Given the description of an element on the screen output the (x, y) to click on. 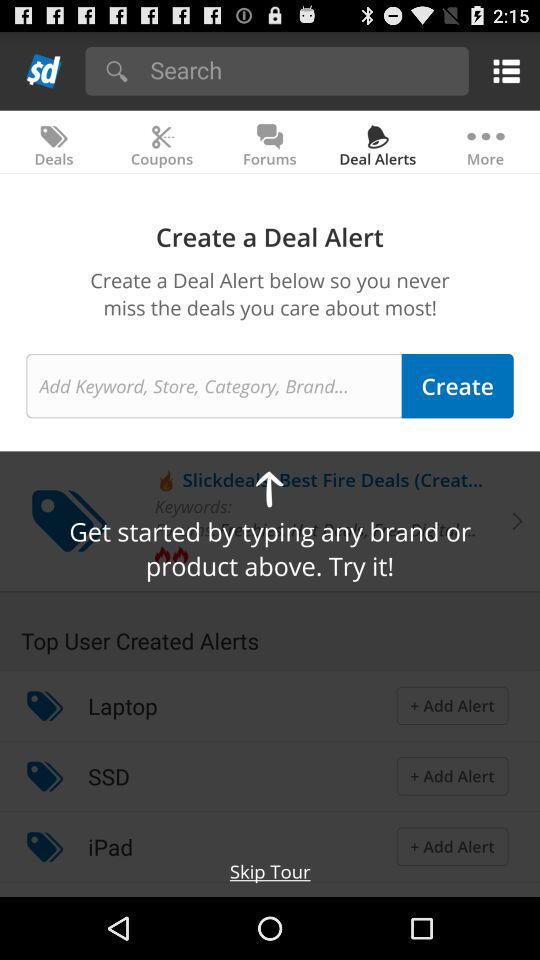
search text field enter keyword (213, 385)
